Given the description of an element on the screen output the (x, y) to click on. 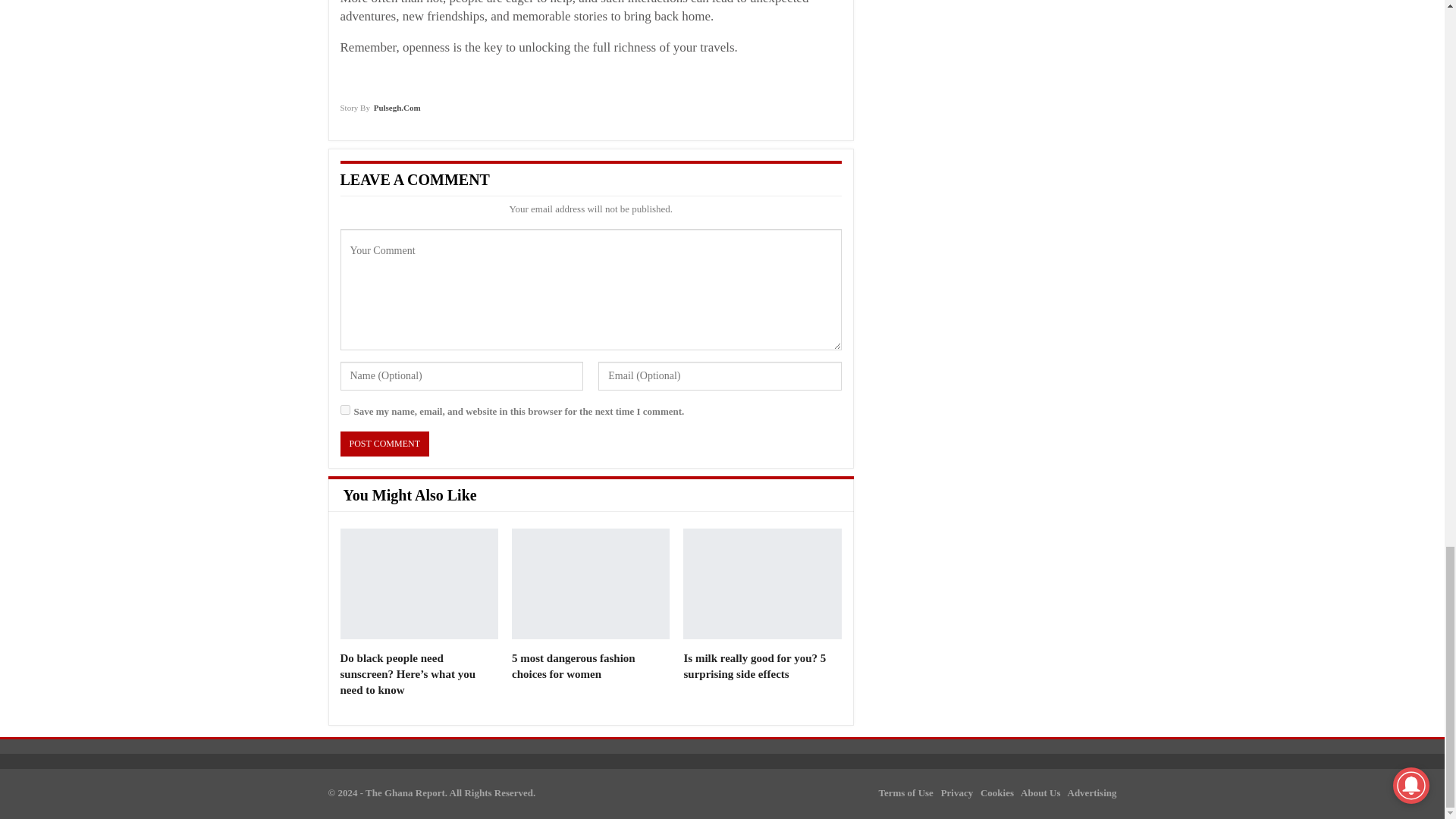
Browse Author Articles (379, 112)
5 most dangerous fashion choices for women (590, 583)
5 most dangerous fashion choices for women (573, 665)
yes (344, 409)
Is milk really good for you? 5 surprising side effects (761, 583)
Post Comment (383, 443)
5 most dangerous fashion choices for women (573, 665)
Is milk really good for you? 5 surprising side effects (753, 665)
Story By Pulsegh.Com (379, 112)
Post Comment (383, 443)
